Given the description of an element on the screen output the (x, y) to click on. 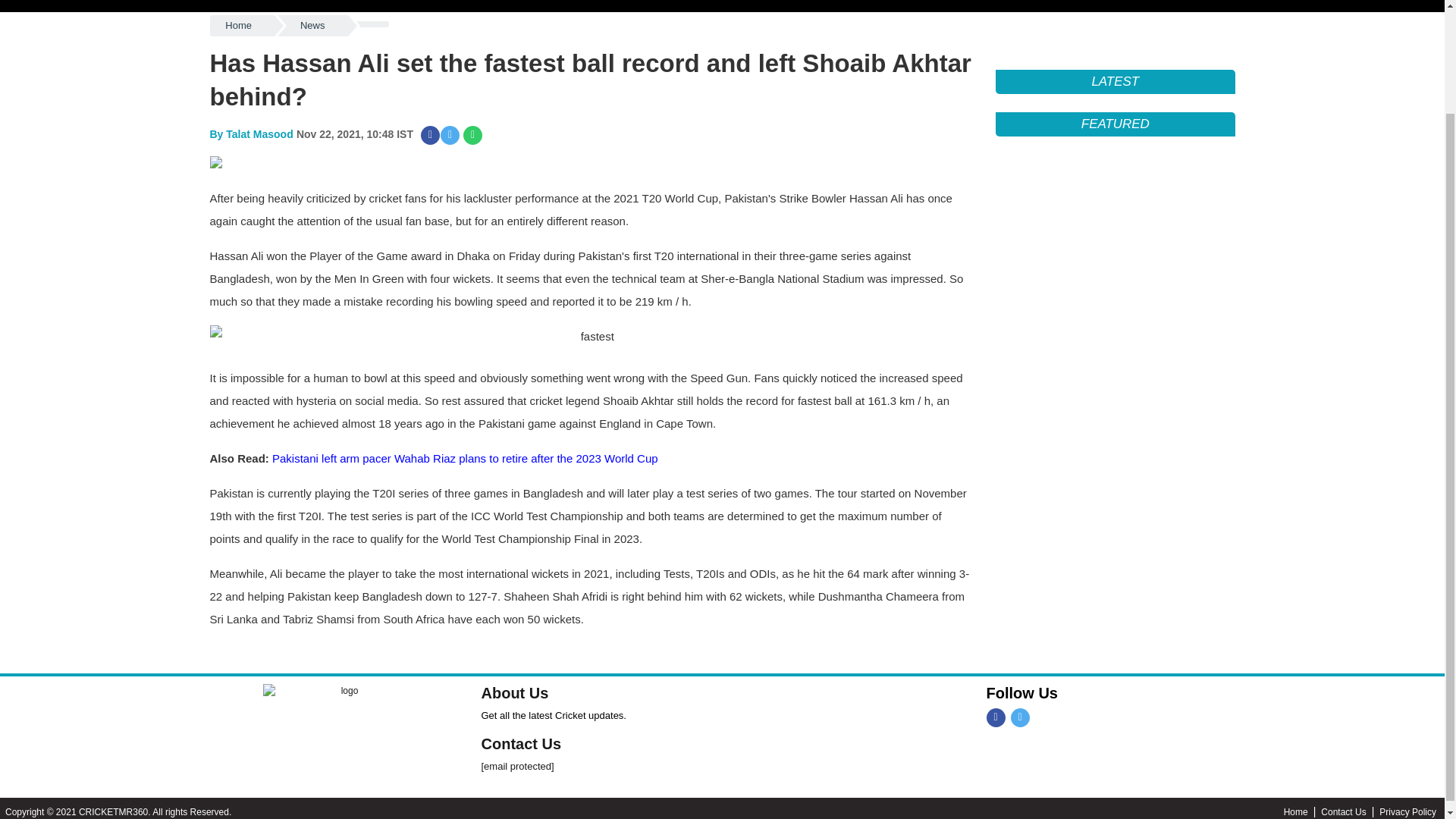
About Us (514, 692)
Contact Us (1349, 811)
Home (241, 25)
SPORTS (128, 5)
INTERNATIONAL CRICKET (307, 5)
Contact Us (520, 743)
FANTASY TIPS (485, 5)
Facebook (994, 717)
VIDEOS (779, 5)
